Given the description of an element on the screen output the (x, y) to click on. 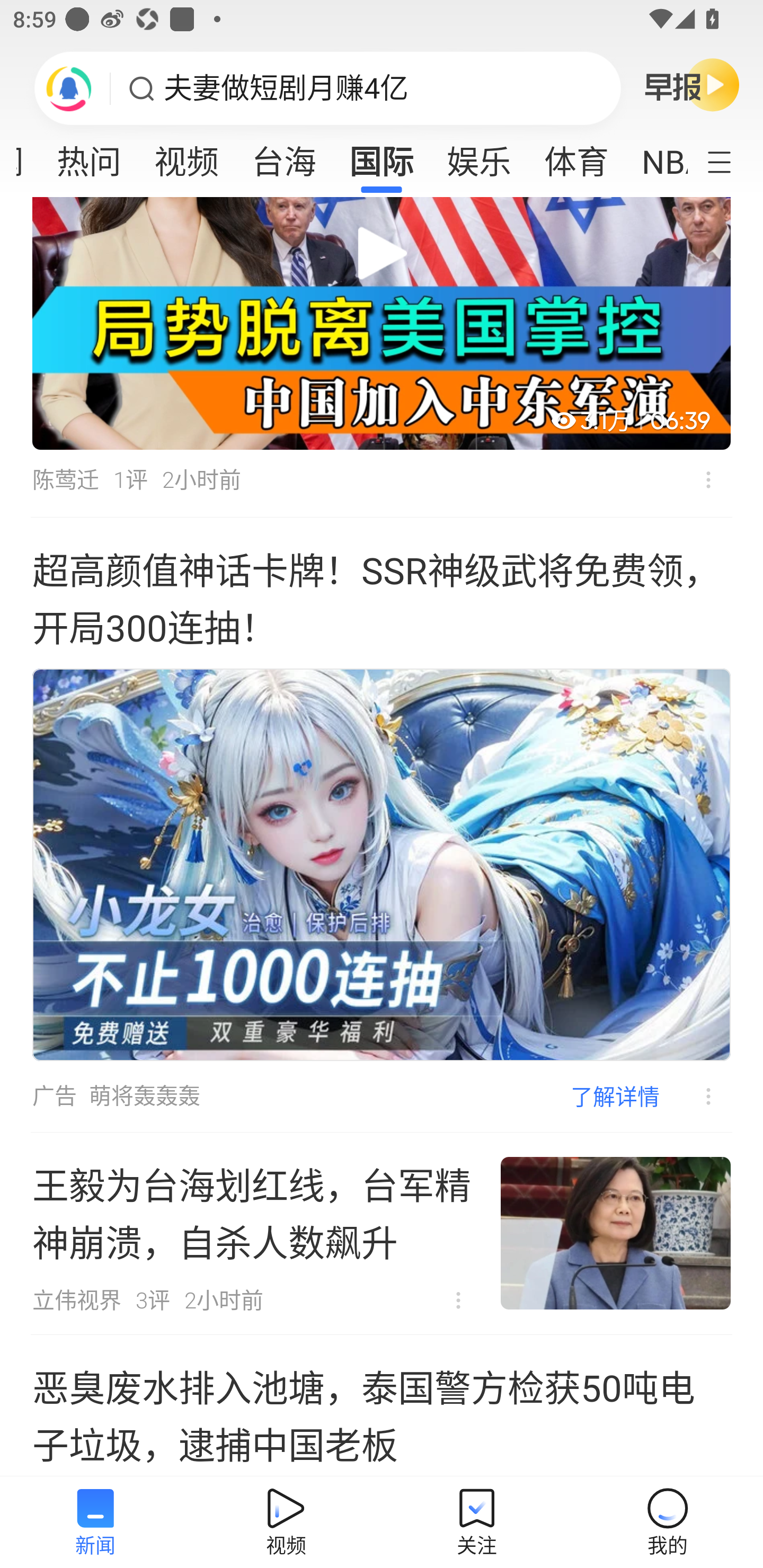
早晚报 (691, 84)
刷新 (68, 88)
夫妻做短剧月赚4亿 (286, 88)
热问 (89, 155)
视频 (186, 155)
台海 (283, 155)
国际 (381, 155)
娱乐 (478, 155)
体育 (575, 155)
NBA (655, 155)
 定制频道 (731, 160)
 3.1万 06:39 陈莺迁 1评 2小时前  不感兴趣 (381, 357)
 不感兴趣 (707, 479)
超高颜值神话卡牌！SSR神级武将免费领，开局300连抽！ (381, 597)
 不感兴趣 (694, 1096)
了解详情 (614, 1096)
广告 (54, 1095)
萌将轰轰轰 (144, 1095)
王毅为台海划红线，台军精神崩溃，自杀人数飙升 立伟视界 3评 2小时前  不感兴趣 (381, 1233)
 不感兴趣 (458, 1300)
恶臭废水排入池塘，泰国警方检获50吨电子垃圾，逮捕中国老板 (381, 1405)
